Given the description of an element on the screen output the (x, y) to click on. 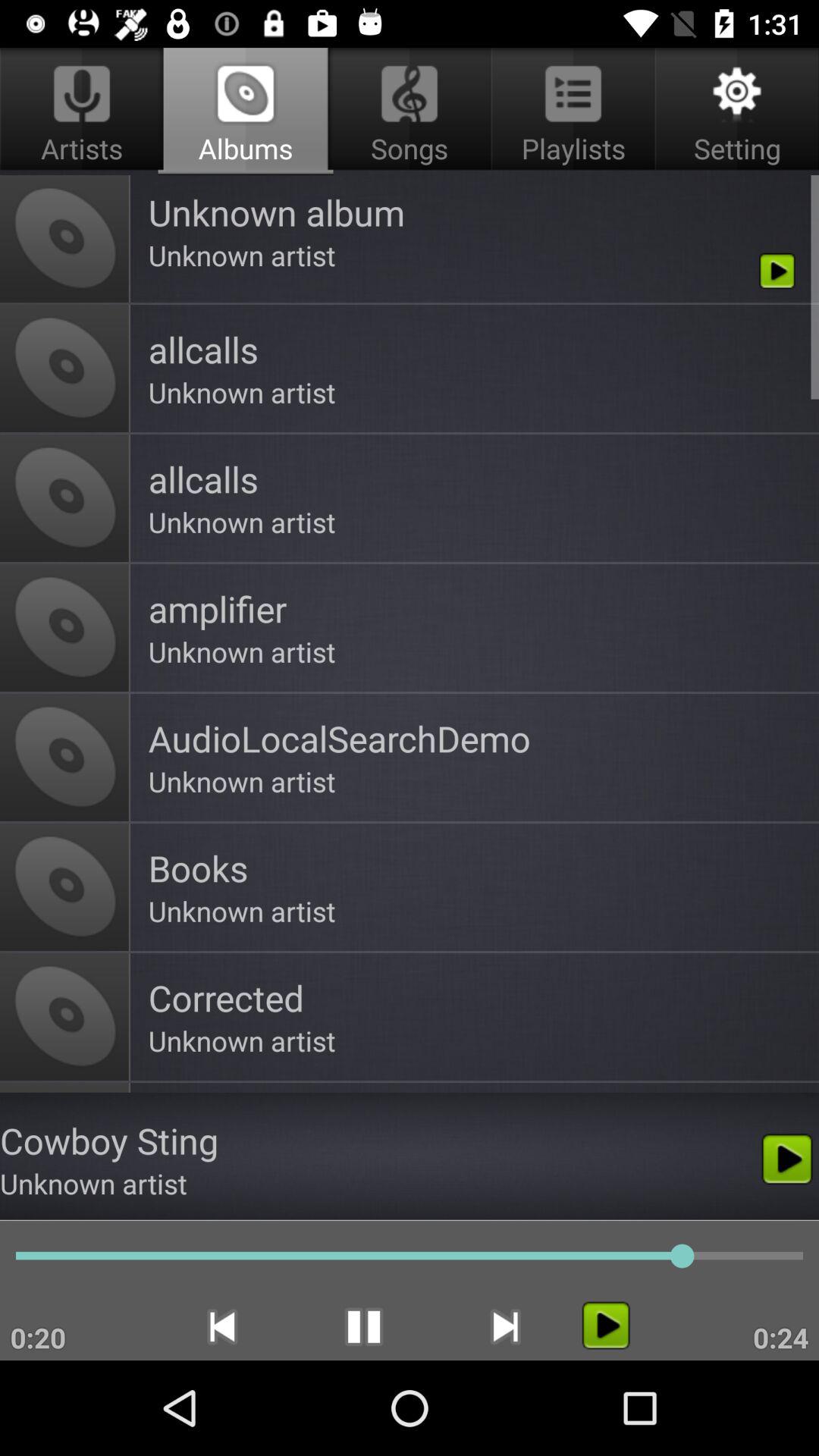
turn off icon above unknown album icon (734, 111)
